Given the description of an element on the screen output the (x, y) to click on. 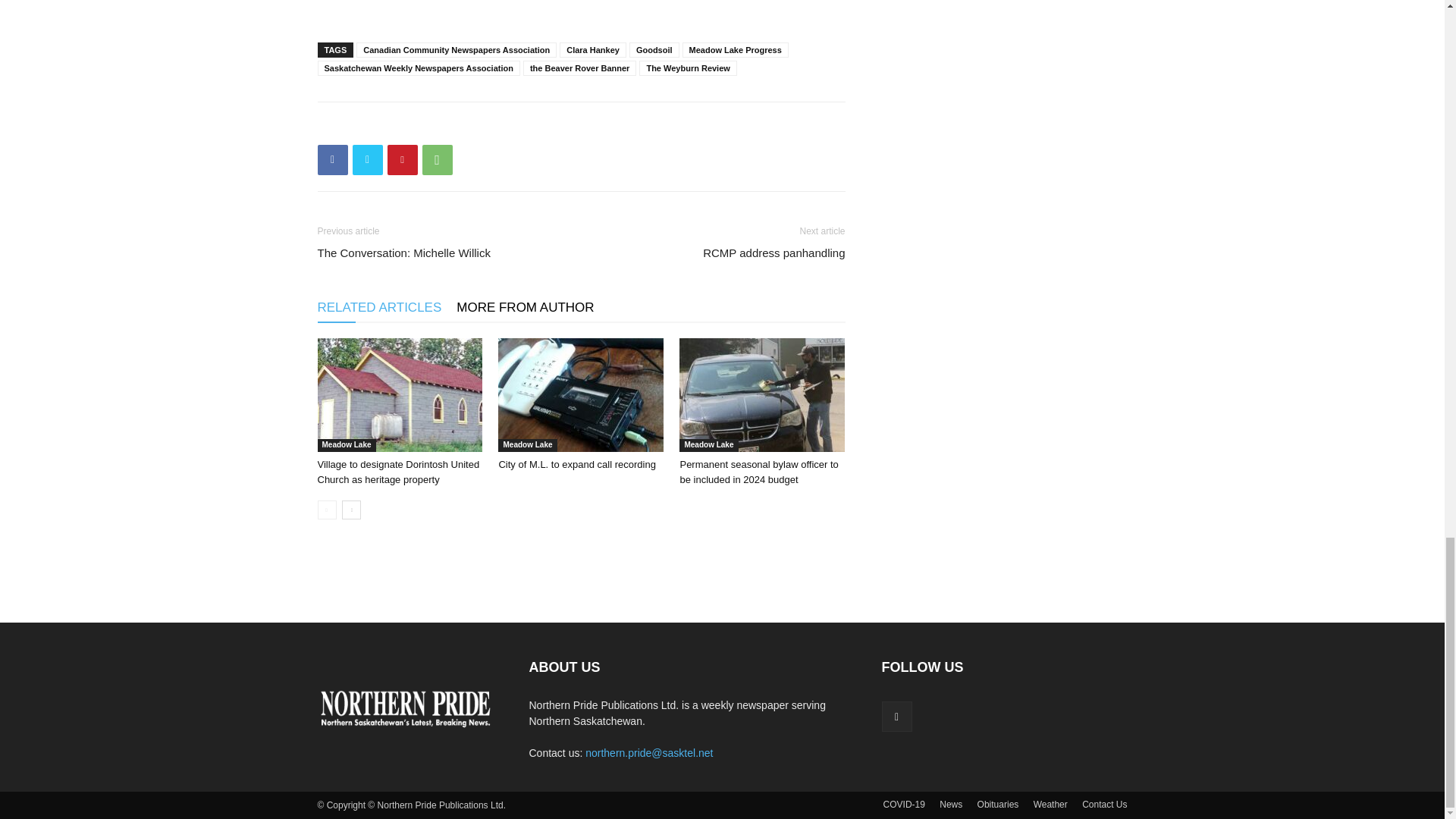
Pinterest (401, 159)
Facebook (332, 159)
bottomFacebookLike (430, 125)
WhatsApp (436, 159)
Twitter (366, 159)
